Given the description of an element on the screen output the (x, y) to click on. 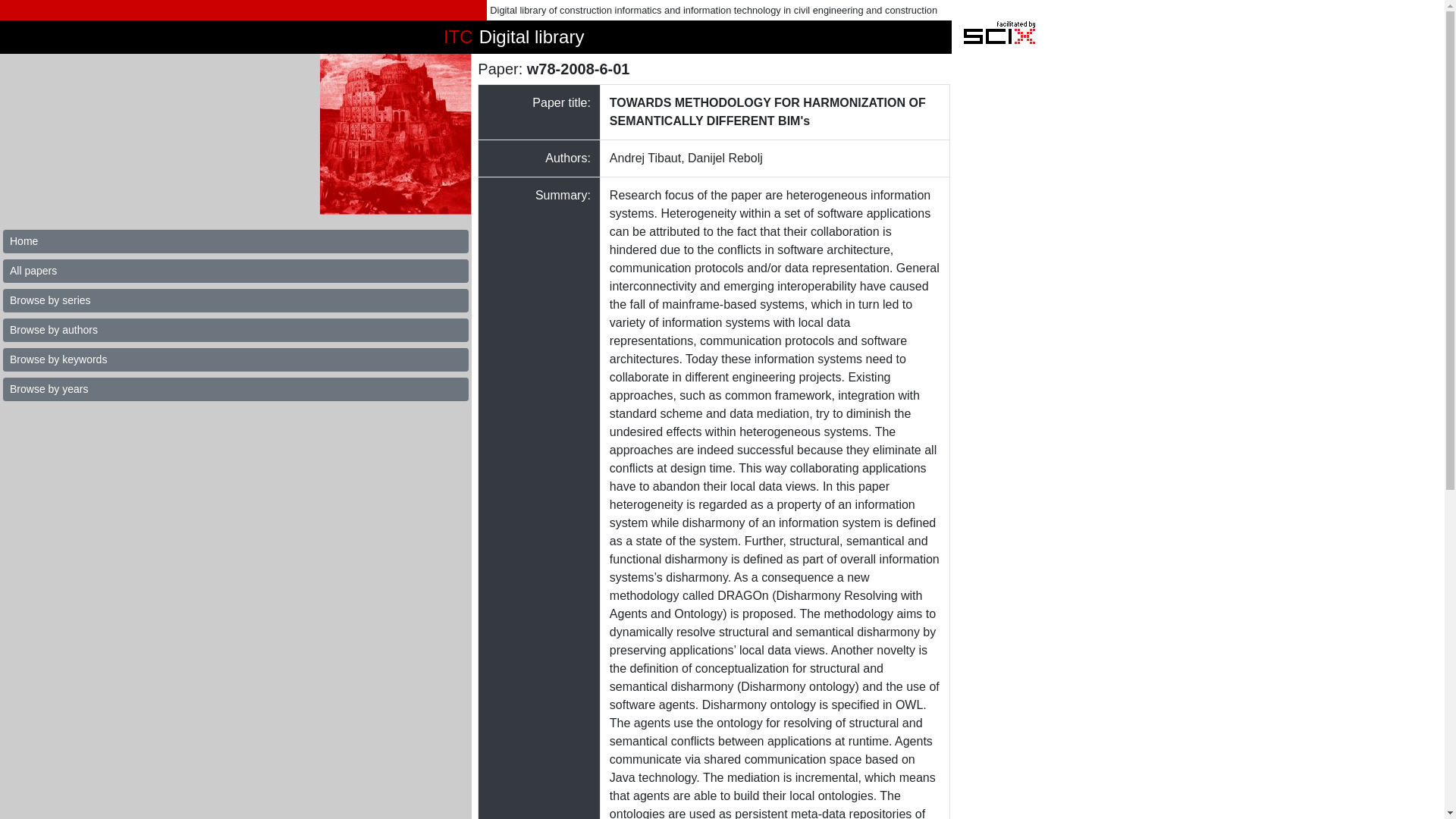
Home (235, 241)
Browse by series (235, 300)
Browse by authors (235, 330)
All papers (235, 270)
Browse by years (235, 389)
Browse by keywords (235, 359)
